Given the description of an element on the screen output the (x, y) to click on. 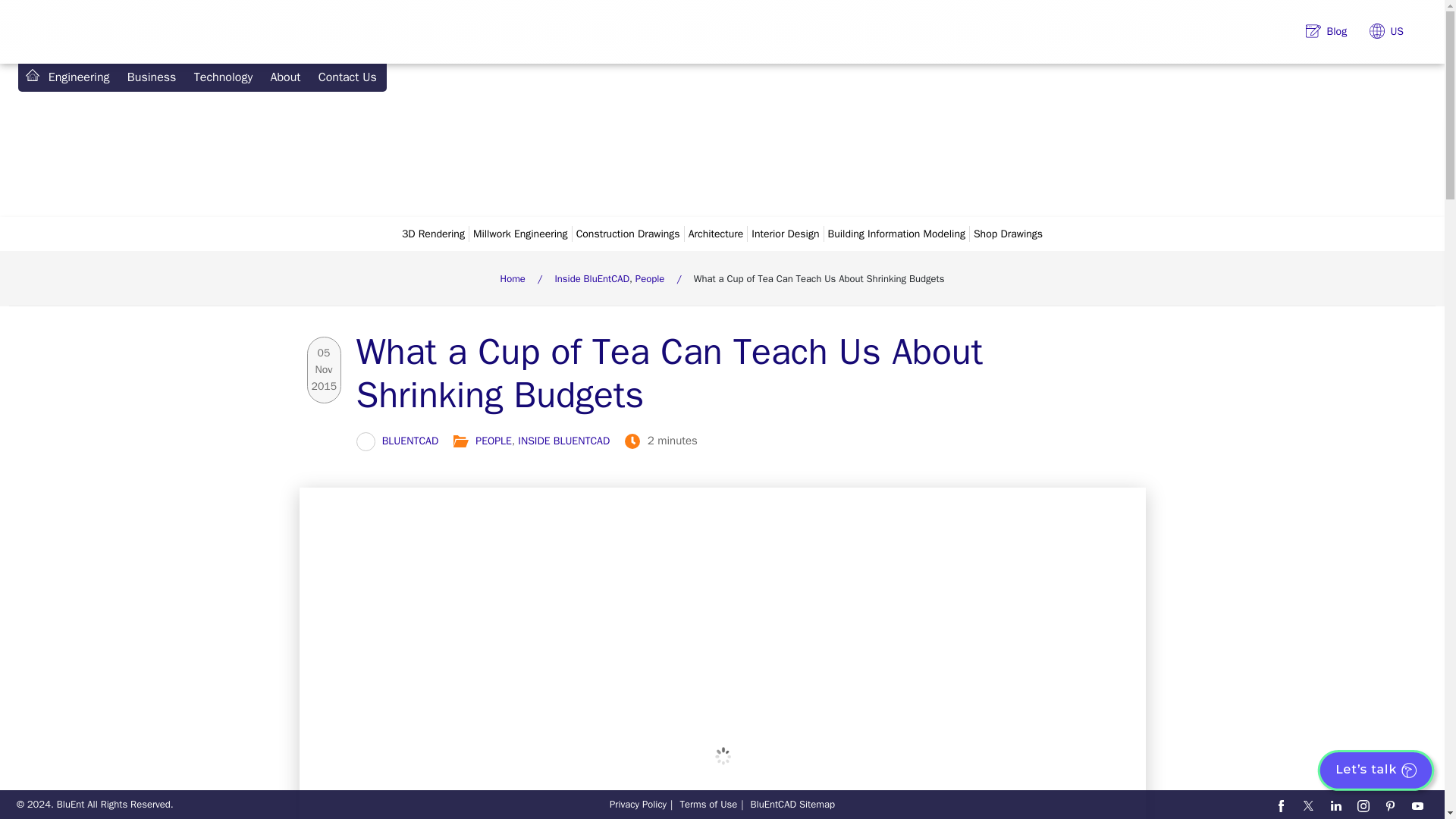
About (285, 77)
Home (32, 74)
Engineering (78, 77)
View all posts in People (494, 440)
Posts by BluEntCAD (409, 440)
Privacy Policy (638, 803)
US (1386, 31)
Business (150, 77)
Blog (1326, 31)
